Given the description of an element on the screen output the (x, y) to click on. 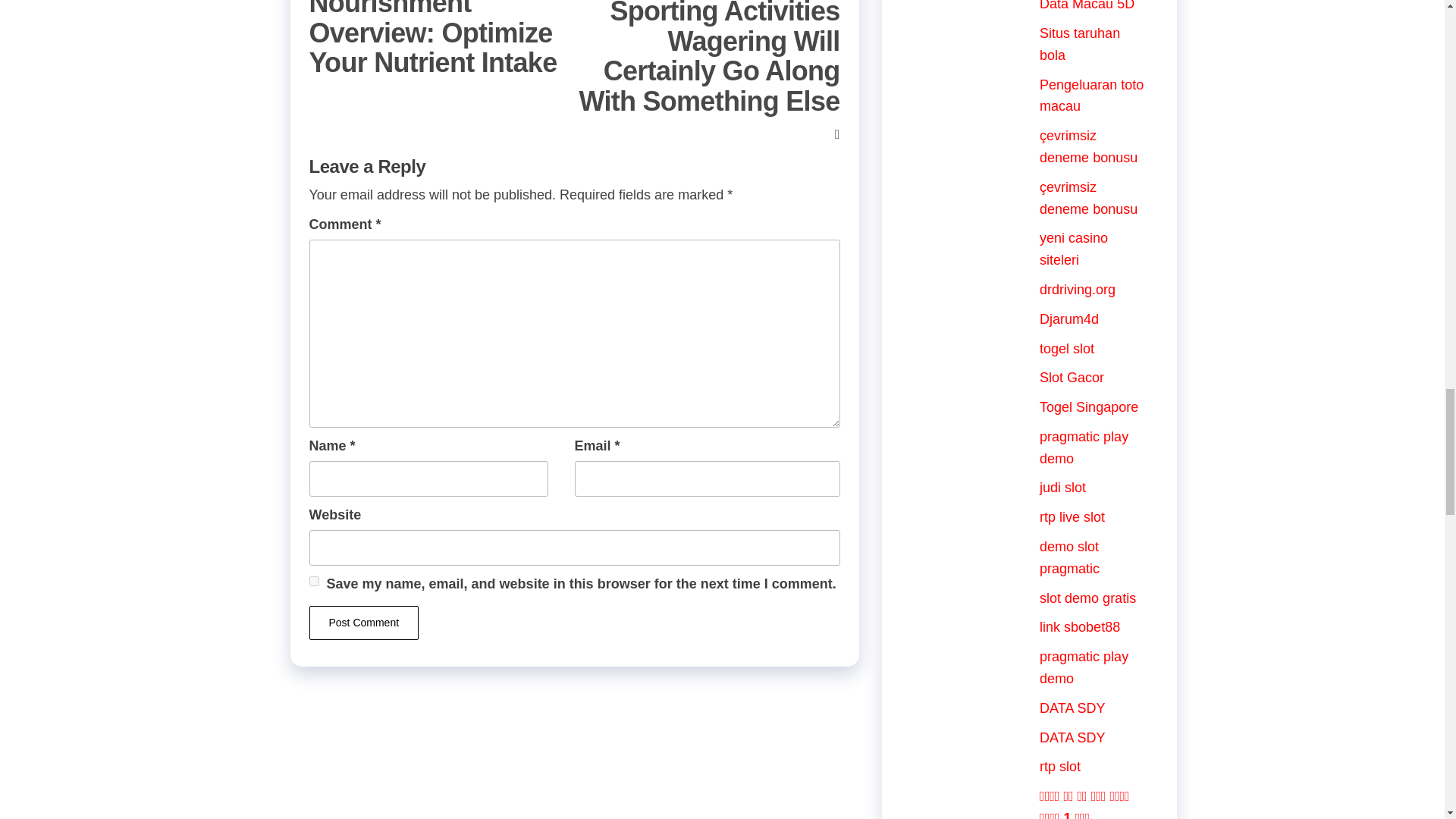
yes (313, 581)
Post Comment (363, 622)
Post Comment (363, 622)
